Given the description of an element on the screen output the (x, y) to click on. 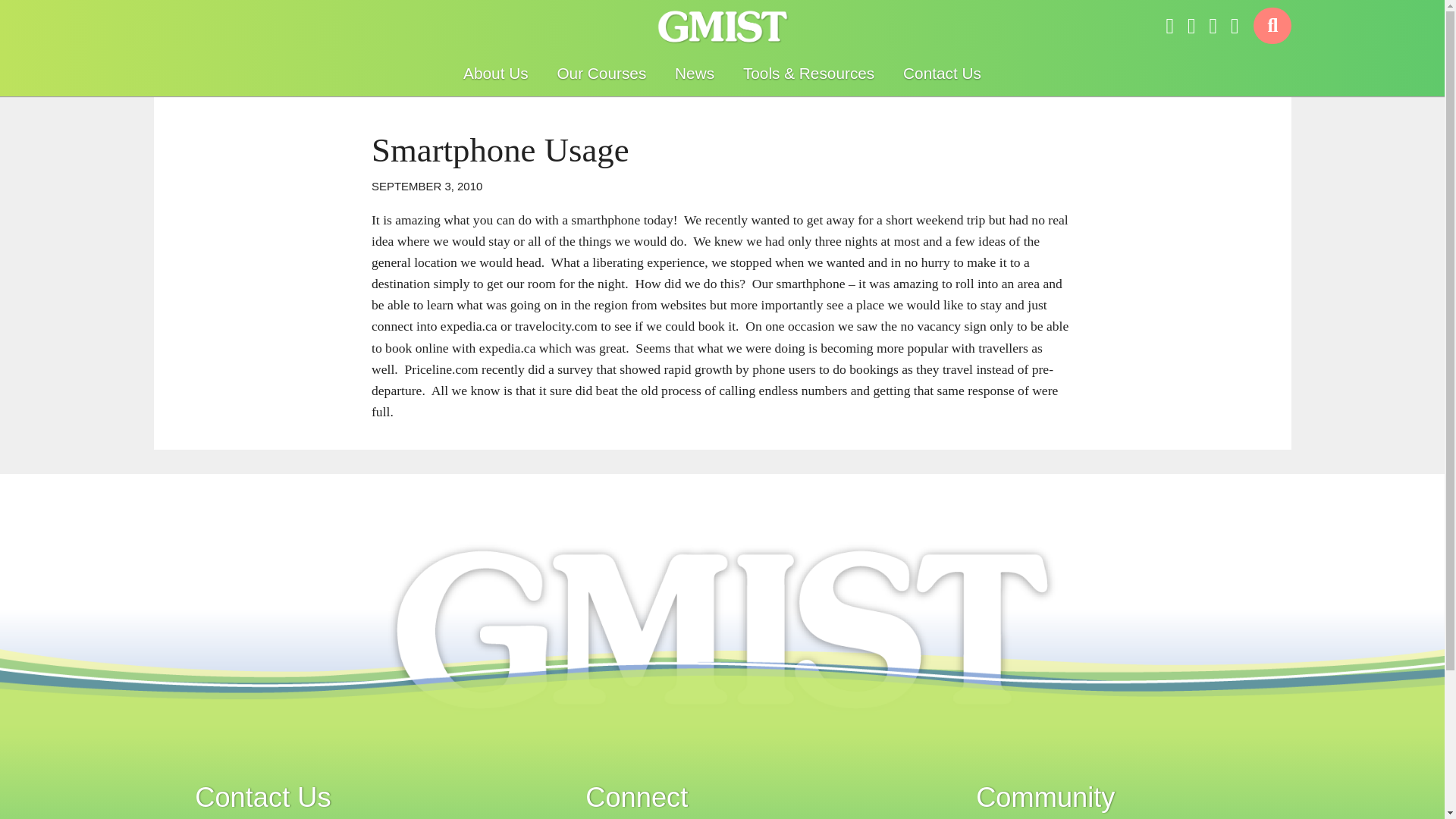
Search (1272, 25)
Our Courses (601, 73)
About Us (495, 73)
News (694, 73)
Contact Us (941, 73)
Search (1272, 25)
Search (1272, 25)
